Given the description of an element on the screen output the (x, y) to click on. 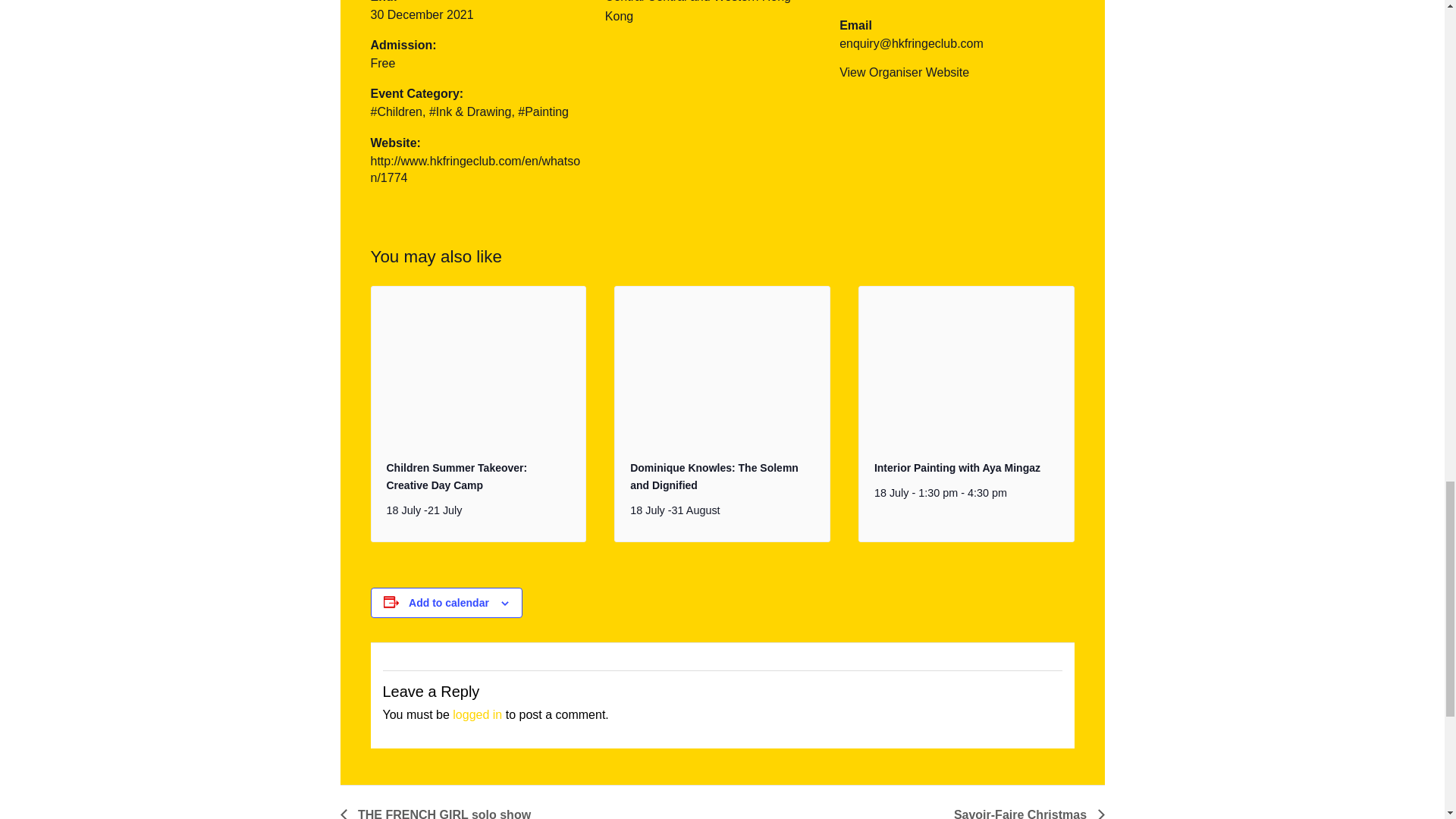
Dominique Knowles: The Solemn and Dignified (713, 476)
Interior Painting with Aya Mingaz (958, 467)
2021-12-30 (421, 14)
Children (395, 111)
Children Summer Takeover: Creative Day Camp (457, 476)
Add to calendar (449, 603)
Painting (543, 111)
View Organiser Website (904, 72)
Central and Western (702, 1)
